Given the description of an element on the screen output the (x, y) to click on. 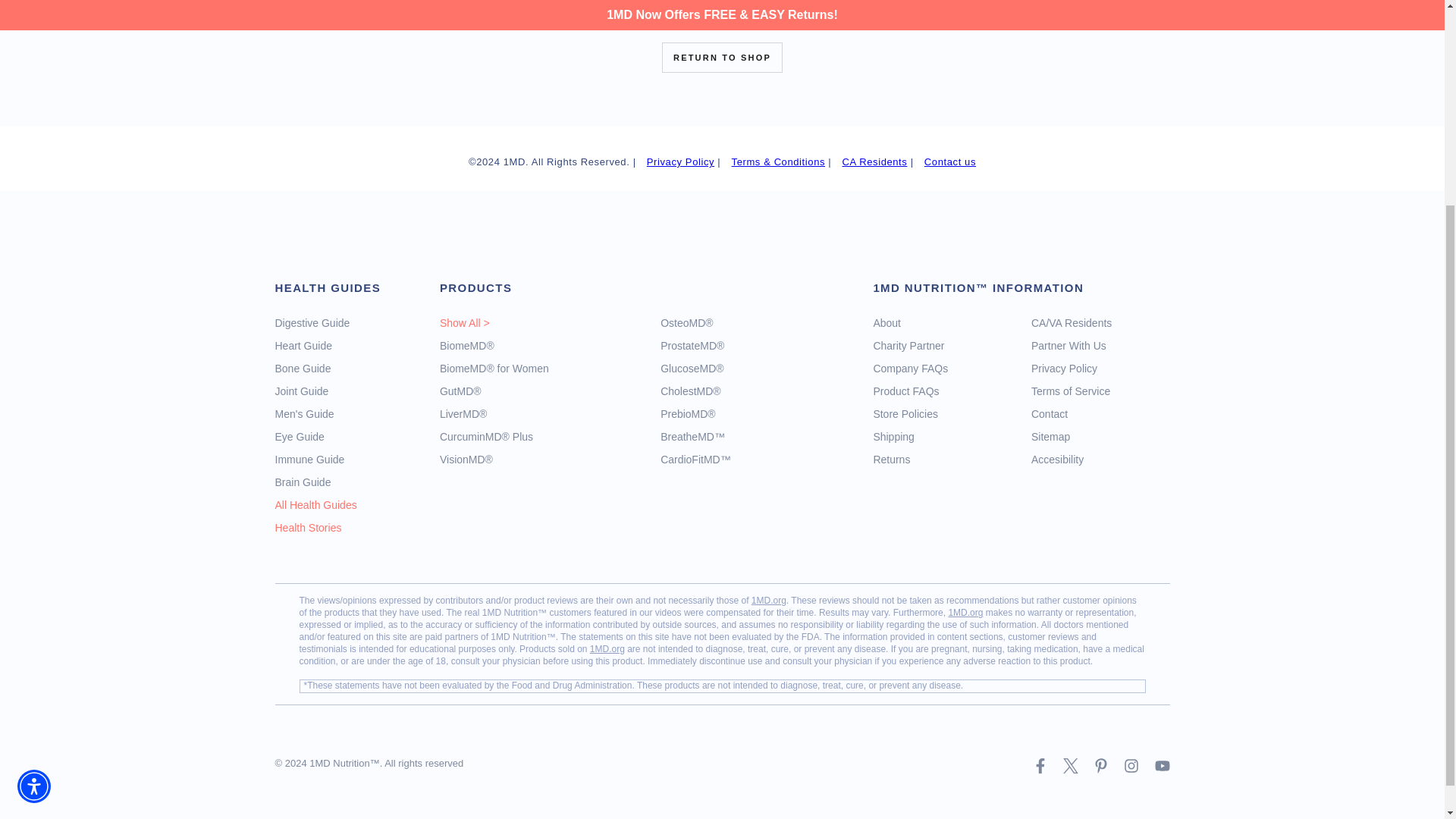
Accessibility Menu (33, 510)
